Given the description of an element on the screen output the (x, y) to click on. 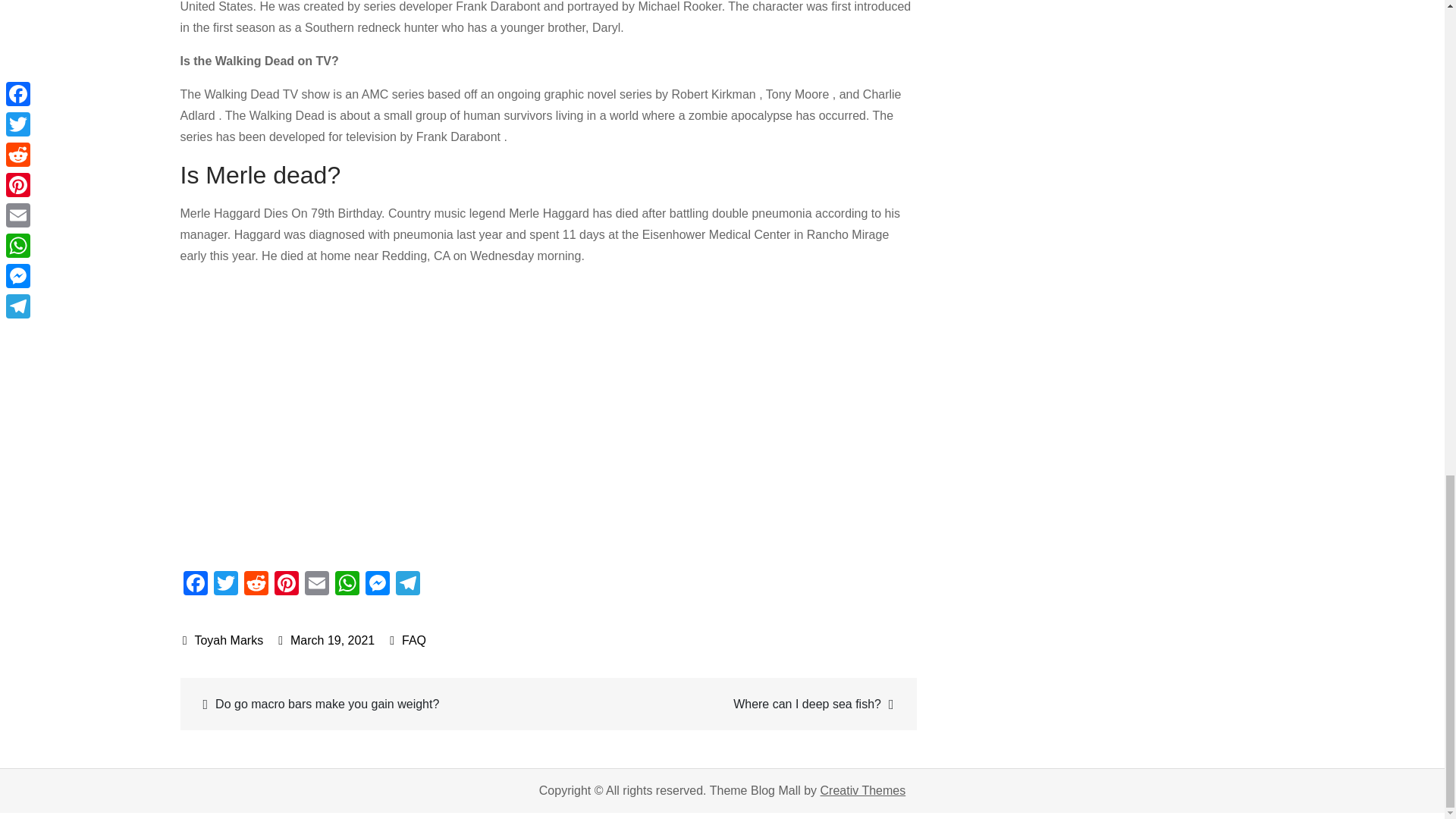
Telegram (408, 584)
Reddit (255, 584)
Email (316, 584)
WhatsApp (346, 584)
Telegram (408, 584)
Toyah Marks (223, 640)
March 19, 2021 (326, 640)
Creativ Themes (863, 789)
Email (316, 584)
the walking dead Merle's Death (422, 415)
